Given the description of an element on the screen output the (x, y) to click on. 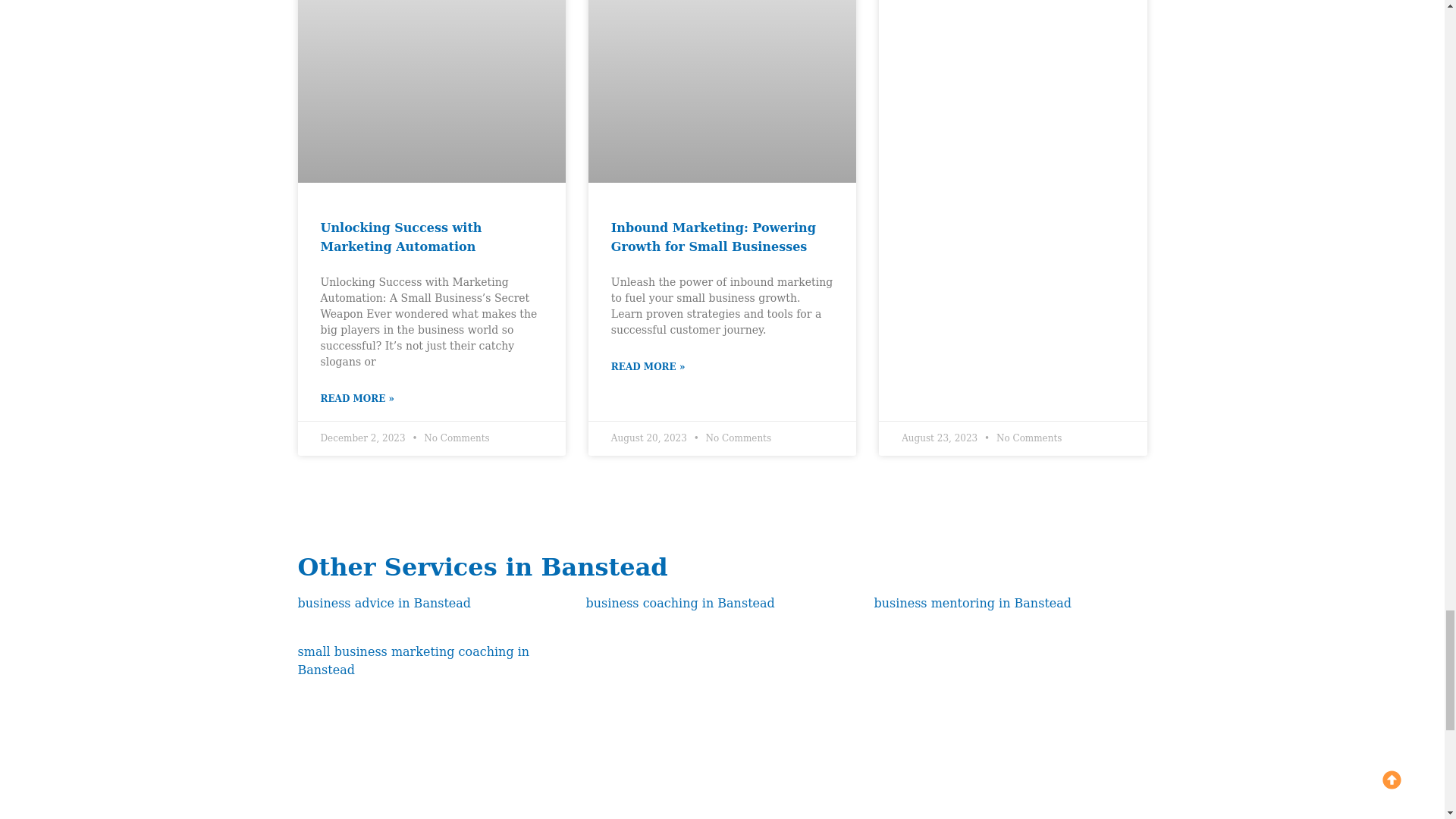
Unlocking Success with Marketing Automation (400, 236)
